Given the description of an element on the screen output the (x, y) to click on. 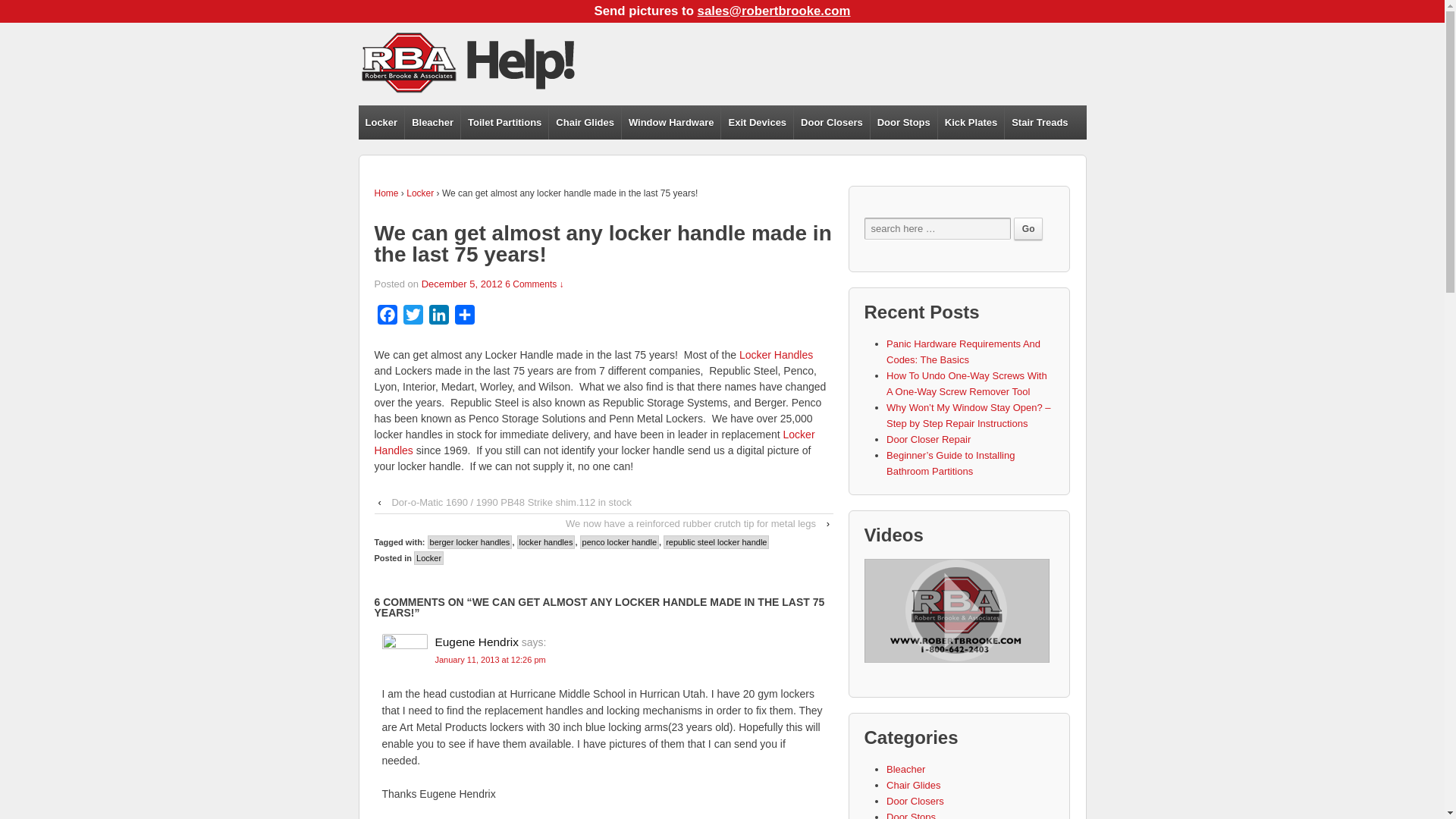
Bleacher (432, 122)
locker handles (545, 541)
Exit Devices (756, 122)
berger locker handles (470, 541)
republic steel locker handle (715, 541)
Home (386, 193)
Locker Handles (775, 354)
LinkedIn (438, 317)
Go (1028, 228)
Facebook (387, 317)
Window Hardware (670, 122)
Locker Handles (775, 354)
Stair Treads (1039, 122)
Kick Plates (970, 122)
Toilet Partitions (504, 122)
